Given the description of an element on the screen output the (x, y) to click on. 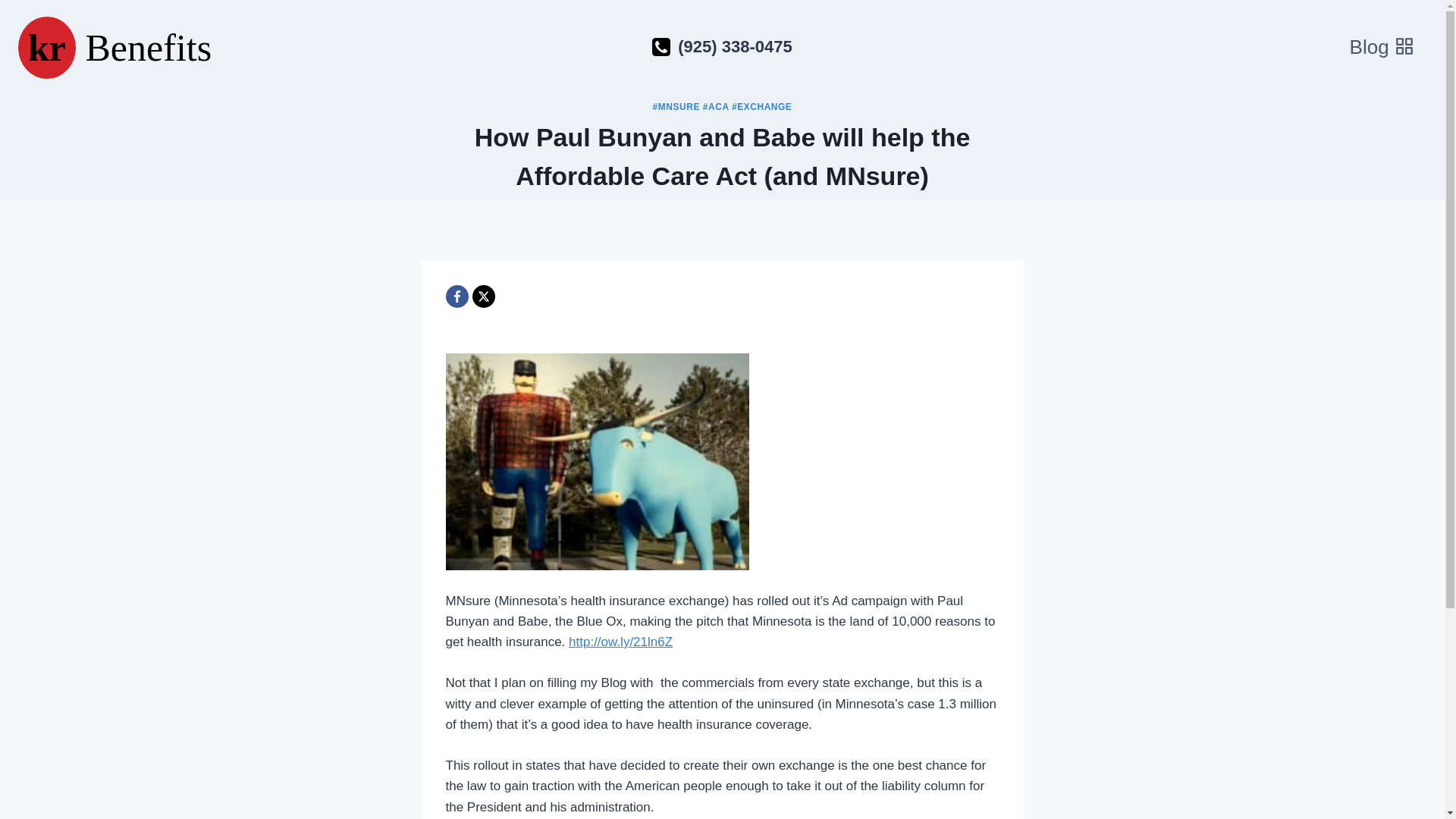
kr Benefits (114, 47)
Blog (1382, 47)
KR Benefits (114, 47)
